Given the description of an element on the screen output the (x, y) to click on. 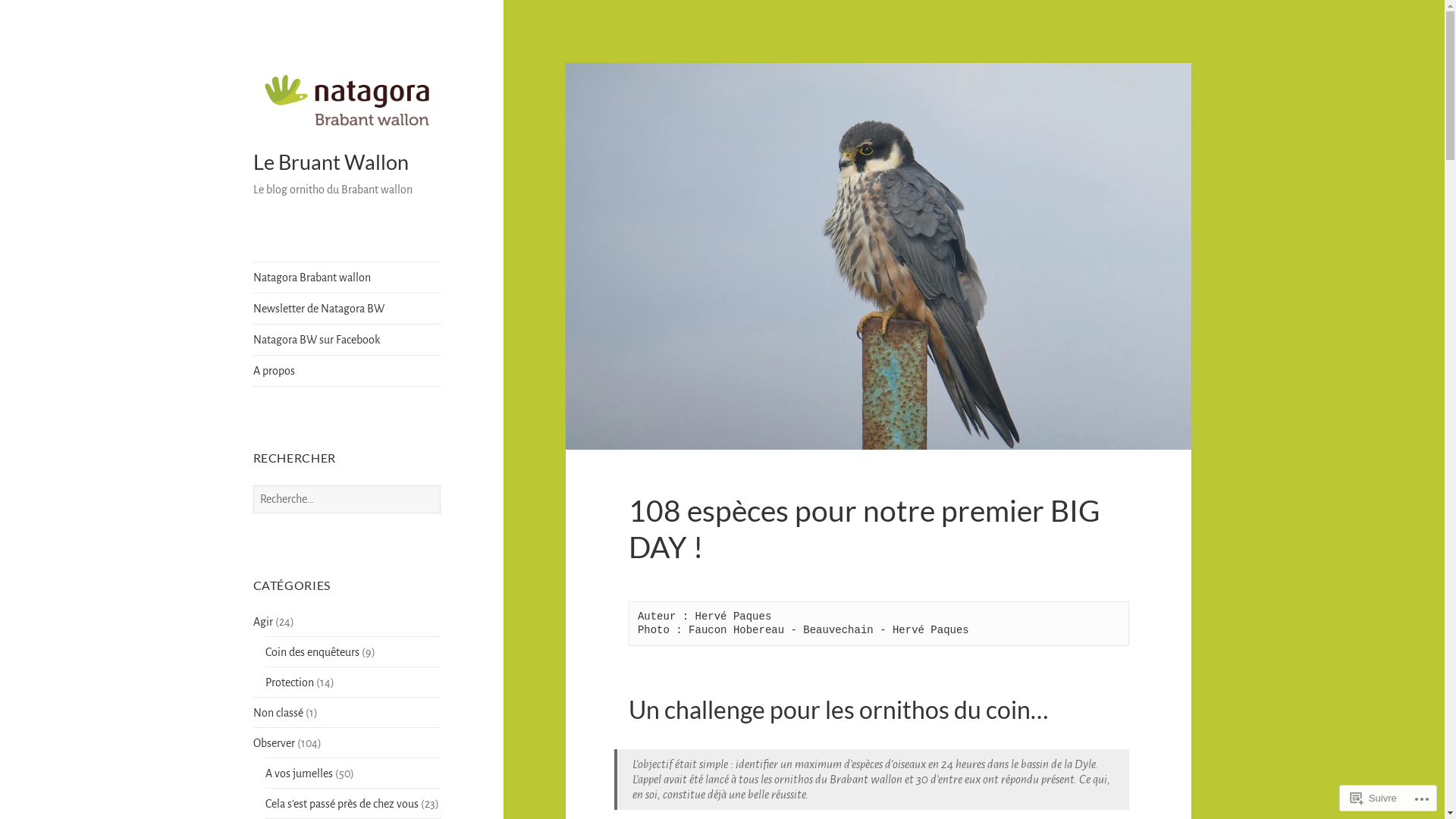
Agir Element type: text (263, 621)
Natagora BW sur Facebook Element type: text (347, 339)
A propos Element type: text (347, 370)
A vos jumelles Element type: text (298, 773)
Le Bruant Wallon Element type: text (330, 161)
Observer Element type: text (273, 743)
Natagora Brabant wallon Element type: text (347, 277)
Protection Element type: text (289, 682)
Newsletter de Natagora BW Element type: text (347, 308)
Suivre Element type: text (1373, 797)
